Given the description of an element on the screen output the (x, y) to click on. 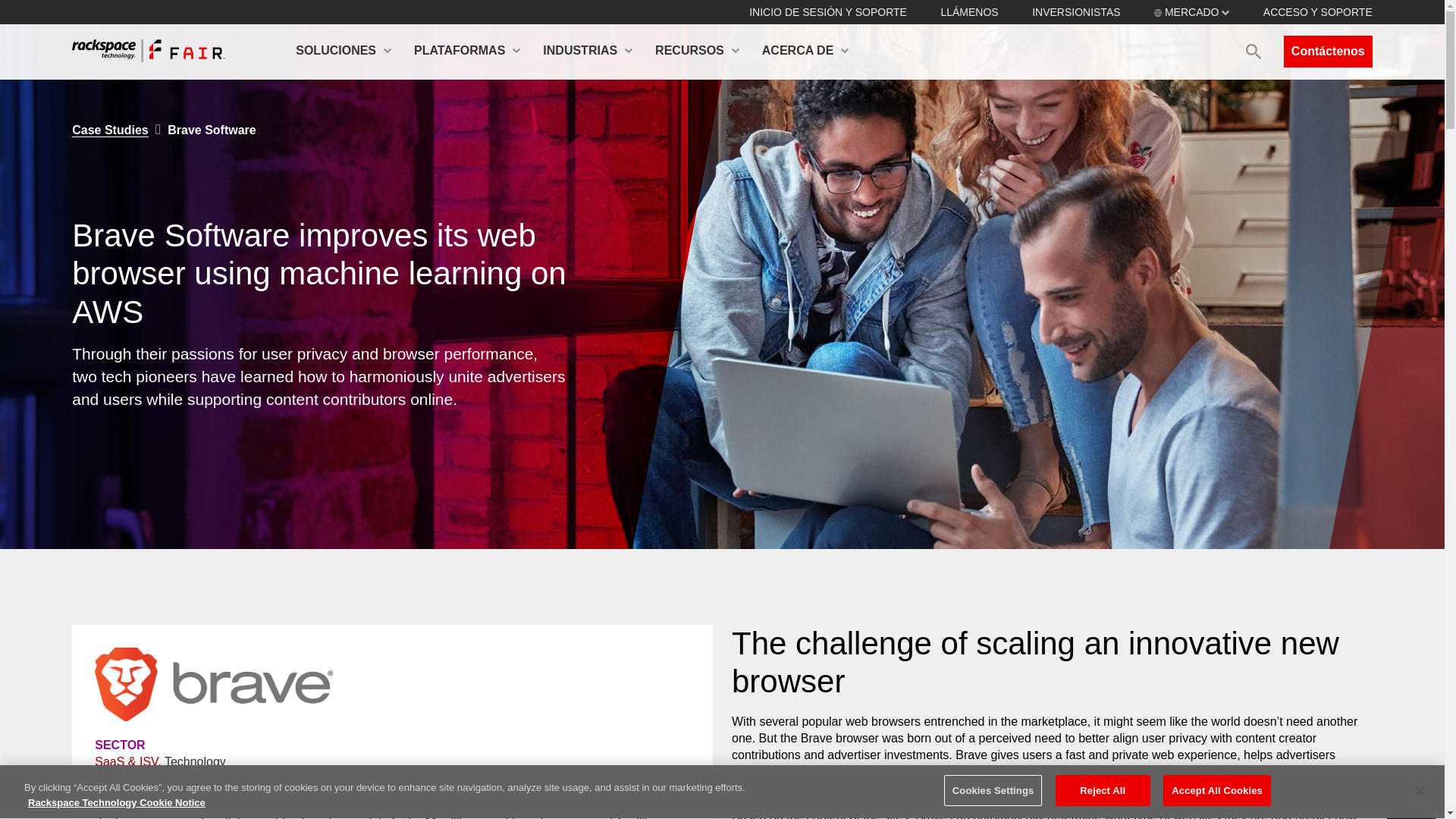
ACCESO Y SOPORTE (1318, 11)
SOLUCIONES (343, 51)
MERCADO (1191, 11)
INVERSIONISTAS (1075, 11)
